Given the description of an element on the screen output the (x, y) to click on. 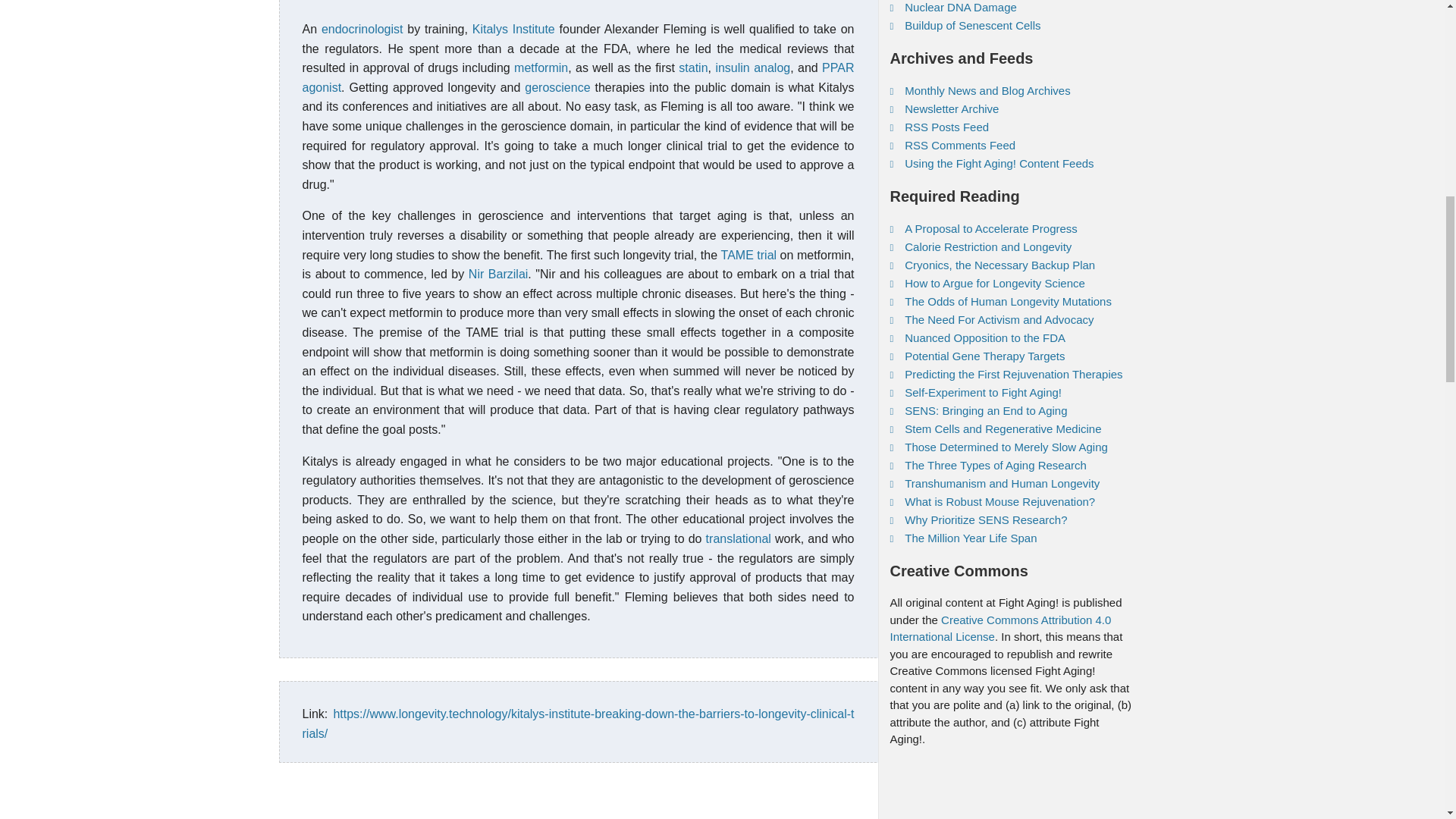
Kitalys Institute (512, 29)
insulin analog (752, 67)
TAME trial (748, 254)
endocrinologist (362, 29)
PPAR agonist (577, 77)
translational (738, 538)
statin (692, 67)
Nir Barzilai (497, 273)
geroscience (556, 87)
metformin (540, 67)
